Given the description of an element on the screen output the (x, y) to click on. 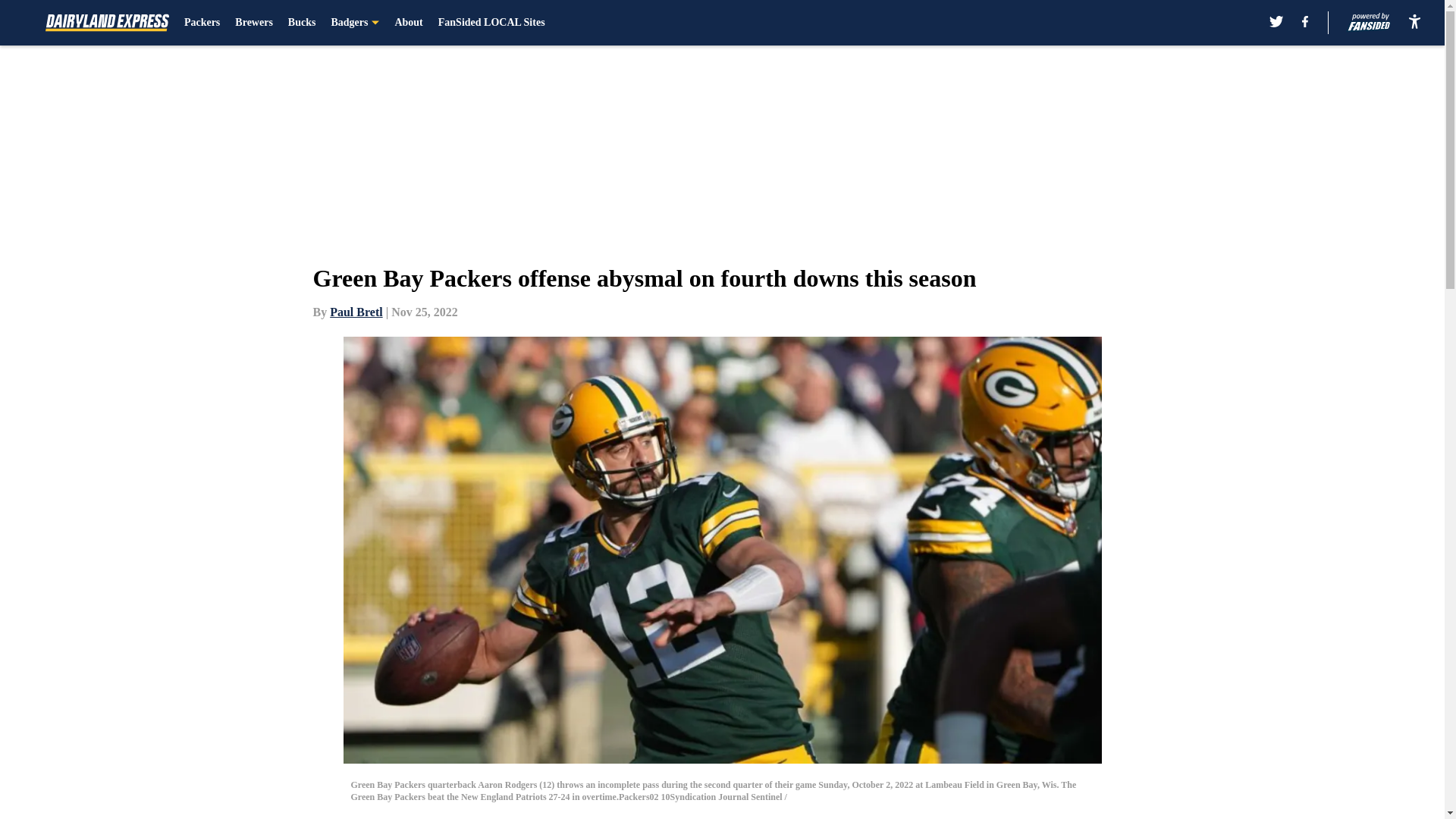
Bucks (301, 22)
Paul Bretl (355, 311)
About (408, 22)
Brewers (253, 22)
Packers (201, 22)
FanSided LOCAL Sites (491, 22)
